Given the description of an element on the screen output the (x, y) to click on. 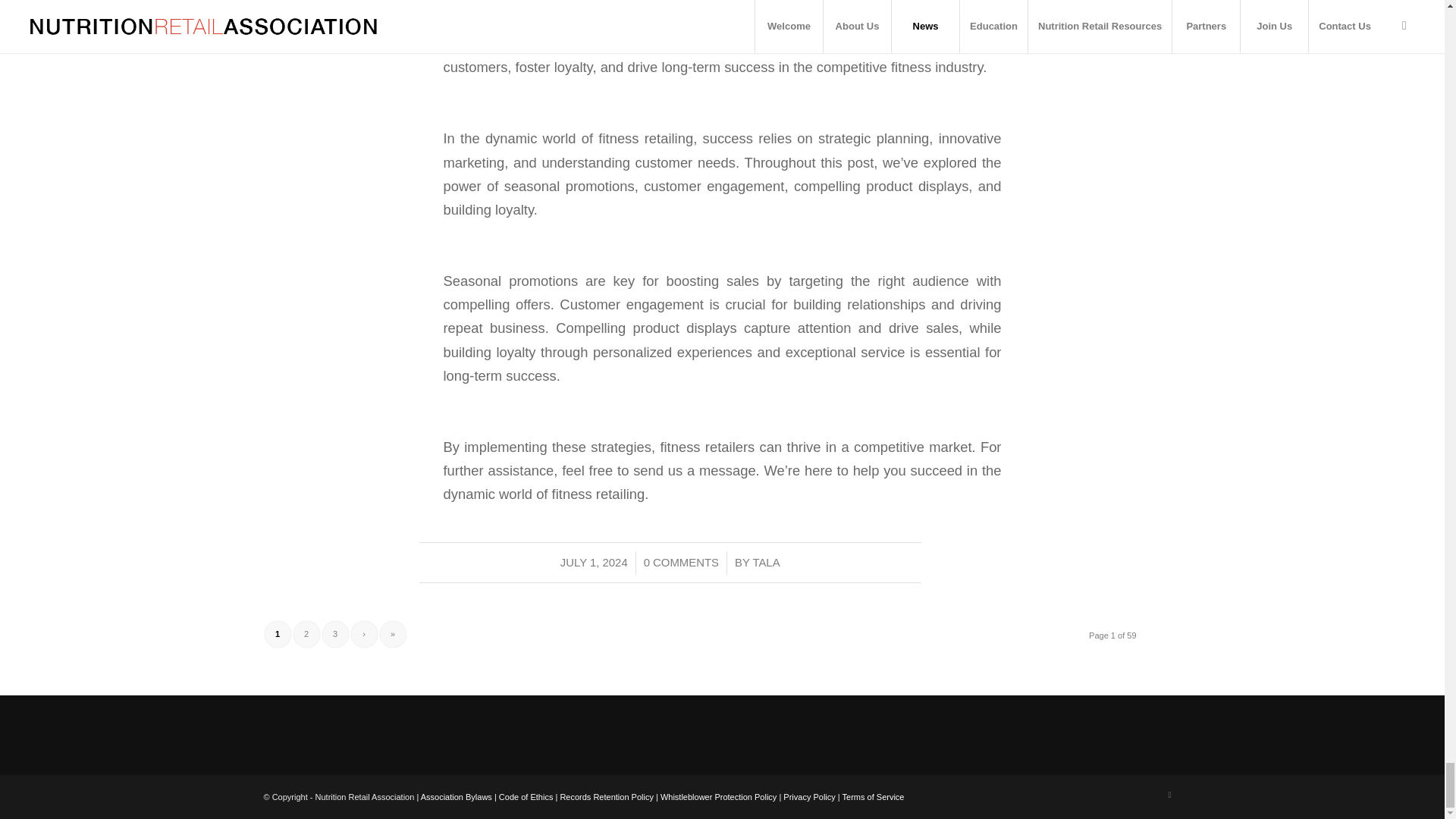
Facebook (1169, 793)
2 (305, 633)
0 COMMENTS (681, 562)
TALA (765, 562)
Posts by Tala (765, 562)
Records Retention Policy (606, 796)
Association Bylaws (456, 796)
Code of Ethics (526, 796)
3 (334, 633)
